Given the description of an element on the screen output the (x, y) to click on. 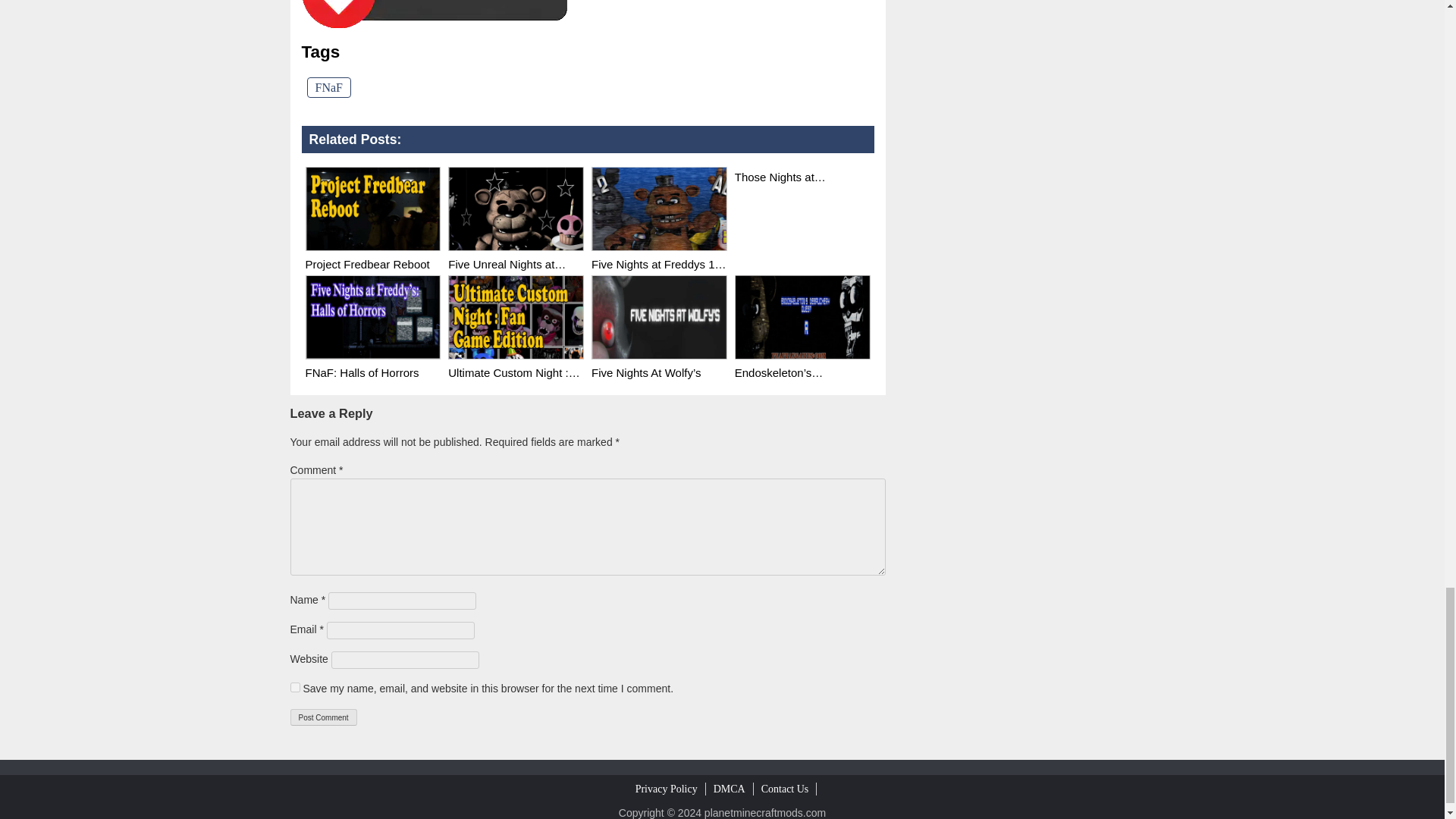
Project Fredbear Reboot (372, 255)
Five Nights at Freddys 1-6 Jumpscare Simulator (658, 209)
Ultimate Custom Night : Fan Game Edition (515, 317)
FNaF: Halls of Horrors (372, 317)
yes (294, 687)
FNaF (327, 86)
Project Fredbear Reboot (372, 209)
Ultimate Custom Night : Fan Game Edition (515, 363)
FNaF: Halls of Horrors (372, 363)
Post Comment (322, 717)
Post Comment (322, 717)
Five Nights at Freddys 1-6 Jumpscare Simulator (658, 255)
